Given the description of an element on the screen output the (x, y) to click on. 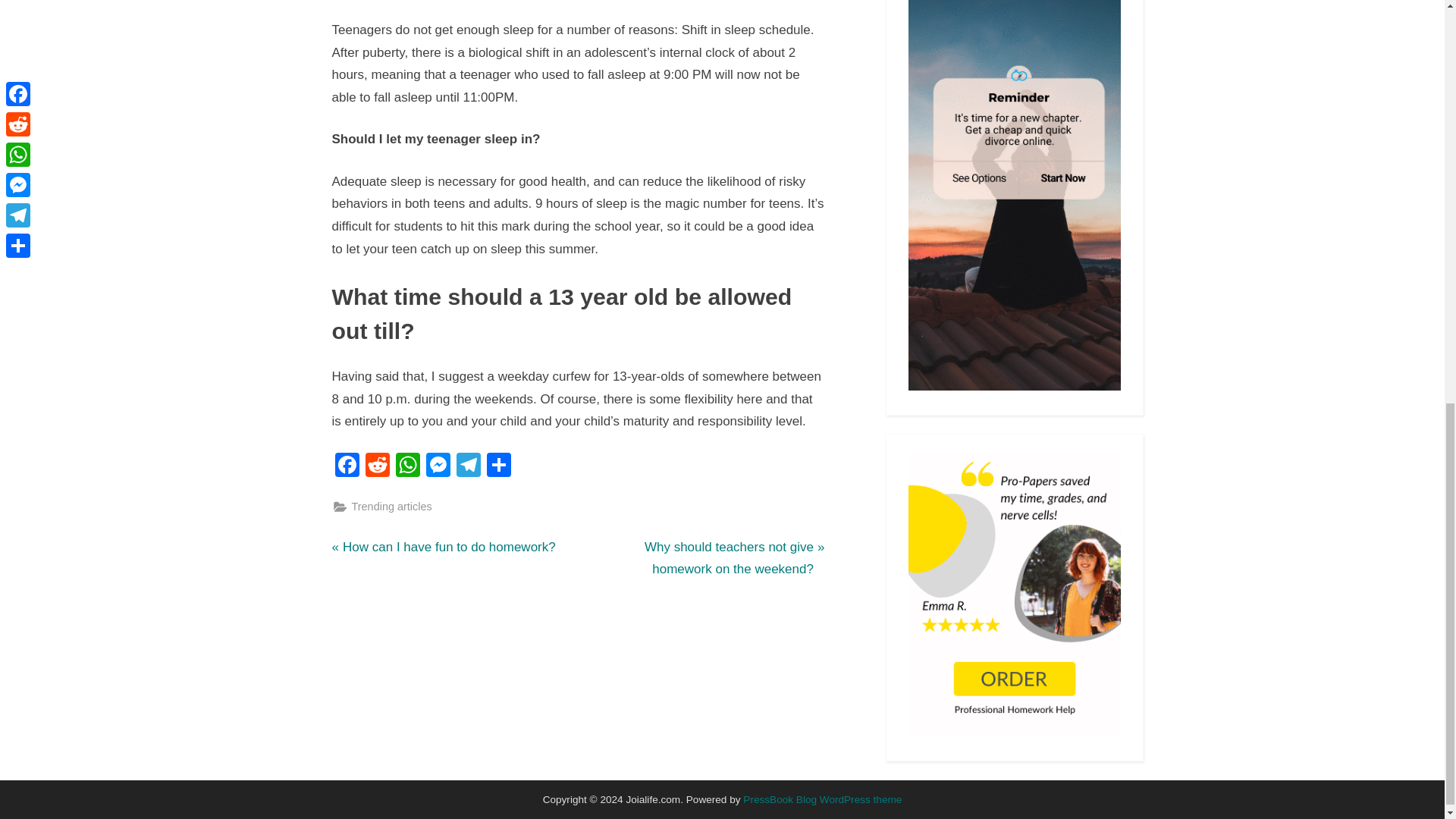
Telegram (467, 466)
Messenger (437, 466)
WhatsApp (408, 466)
PressBook Blog WordPress theme (821, 799)
Reddit (377, 466)
Facebook (346, 466)
Telegram (467, 466)
WhatsApp (408, 466)
Messenger (437, 466)
Facebook (346, 466)
Trending articles (443, 547)
Reddit (392, 506)
